Given the description of an element on the screen output the (x, y) to click on. 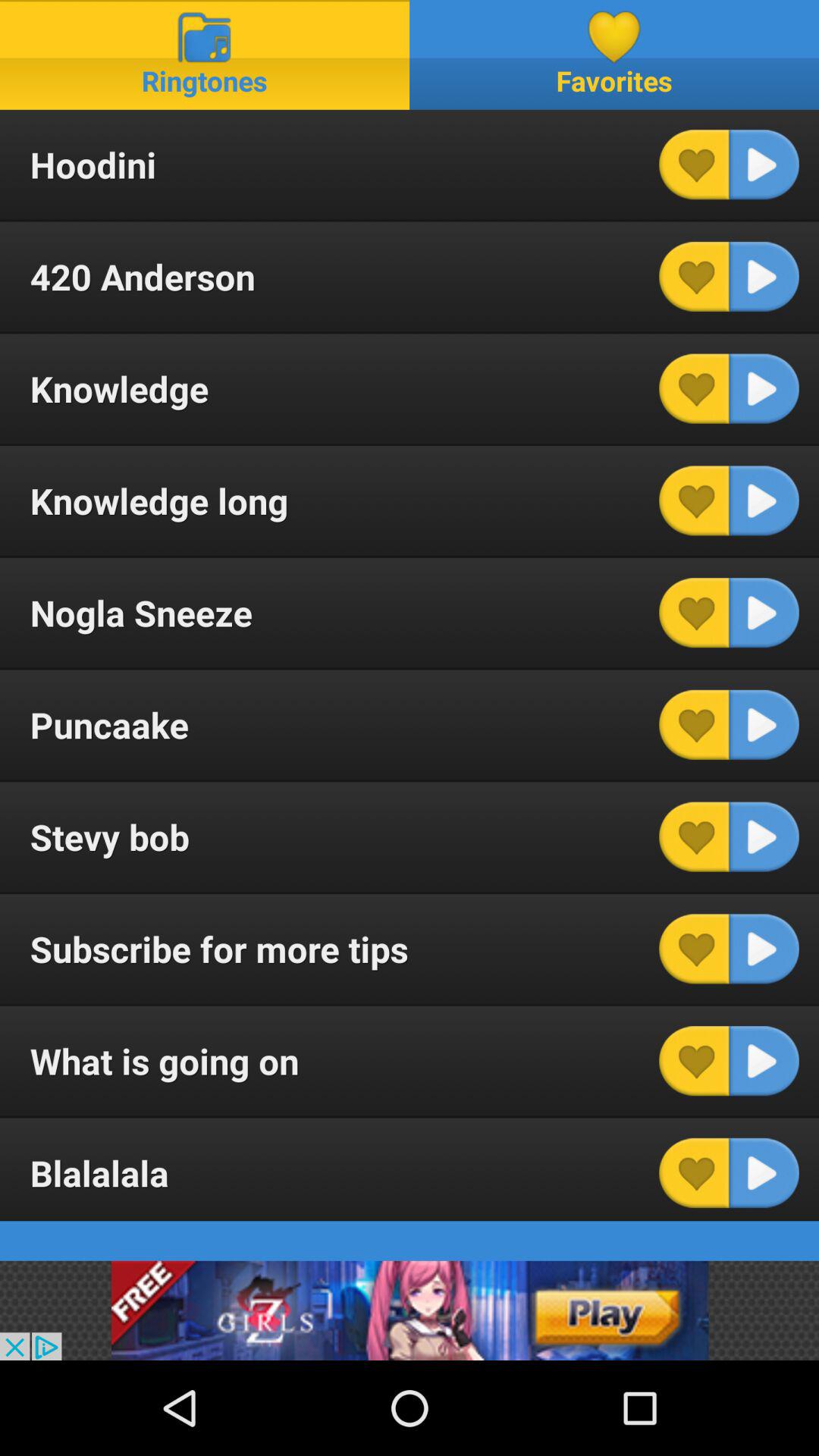
favorite (694, 1173)
